Given the description of an element on the screen output the (x, y) to click on. 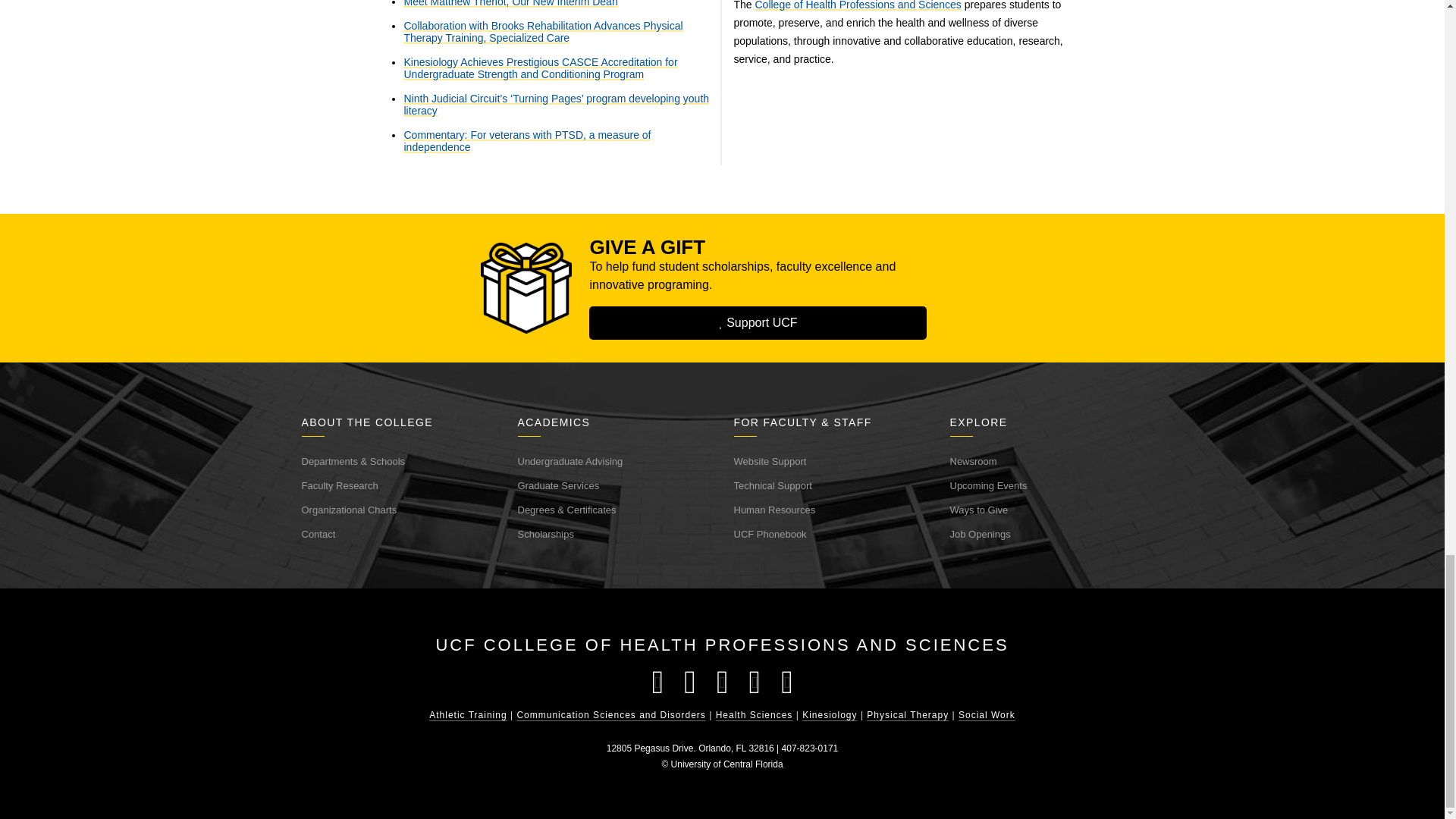
Watch UCF CHPS On YouTube (754, 681)
Join UCF CHPS On LinkedIn (786, 681)
Follow UCF CHPS On Facebook (658, 681)
Follow UCF CHPS On Instagram (722, 681)
Meet Matthew Theriot, Our New Interim Dean (510, 3)
Follow UCF CHPS On Twitter (690, 681)
